Given the description of an element on the screen output the (x, y) to click on. 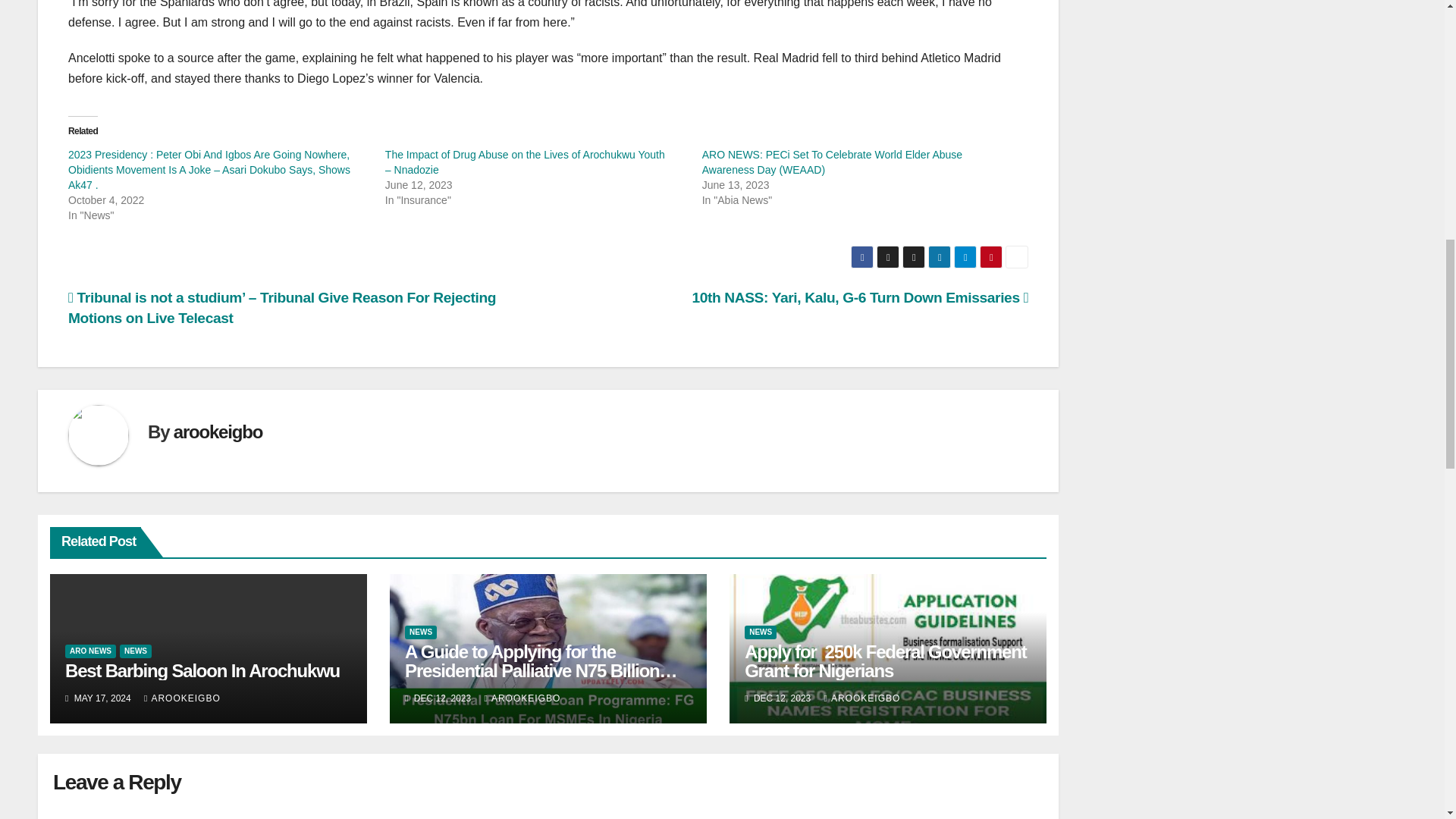
NEWS (135, 651)
10th NASS: Yari, Kalu, G-6 Turn Down Emissaries (859, 297)
ARO NEWS (90, 651)
arookeigbo (217, 431)
Permalink to: Best Barbing Saloon In Arochukwu (202, 670)
